Given the description of an element on the screen output the (x, y) to click on. 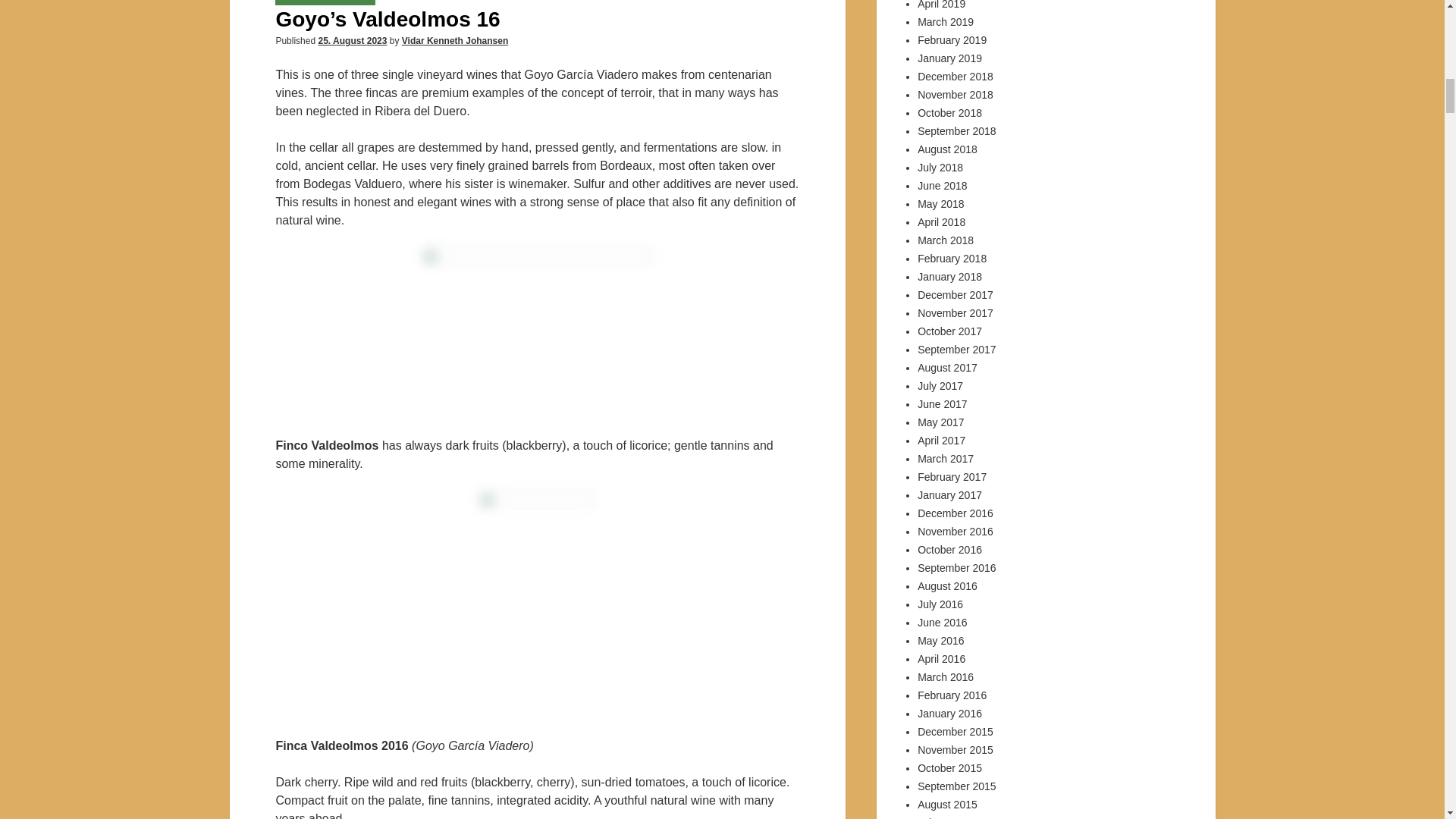
Vidar Kenneth Johansen (454, 40)
25. August 2023 (352, 40)
